Given the description of an element on the screen output the (x, y) to click on. 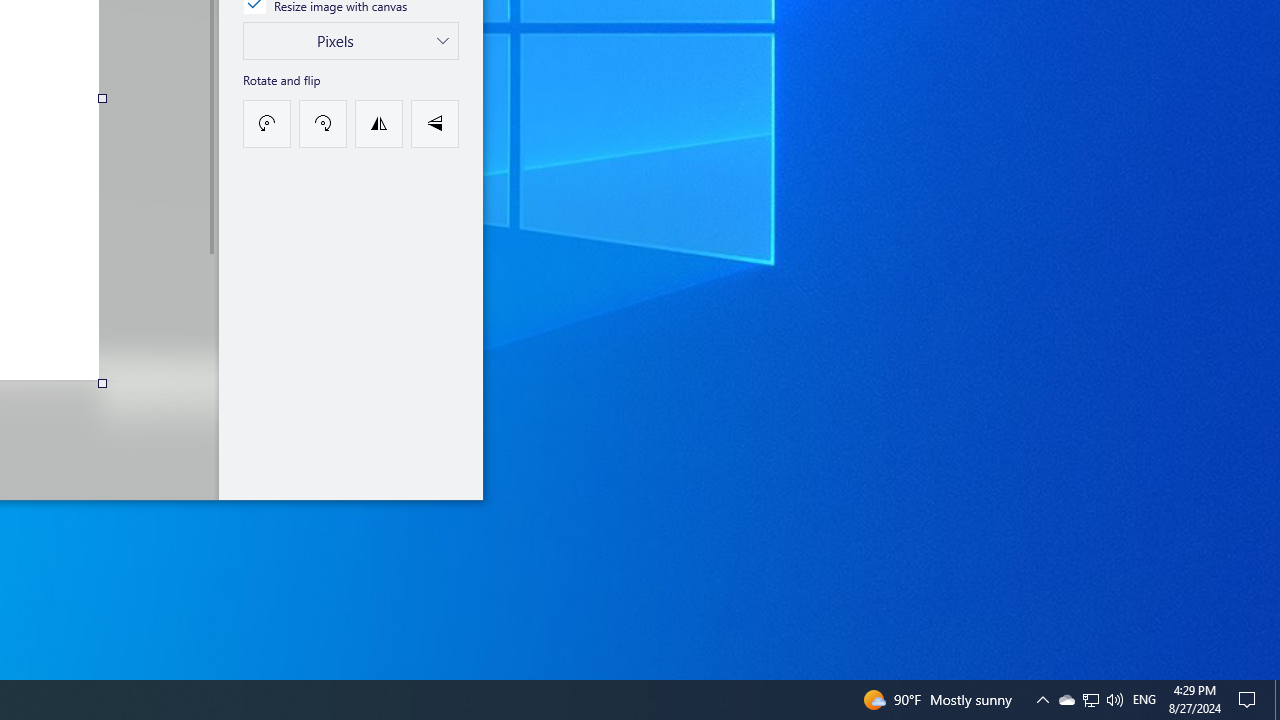
Action Center, No new notifications (1250, 699)
Q2790: 100% (1066, 699)
User Promoted Notification Area (1114, 699)
Show desktop (1090, 699)
Notification Chevron (1277, 699)
Tray Input Indicator - English (United States) (1042, 699)
